Given the description of an element on the screen output the (x, y) to click on. 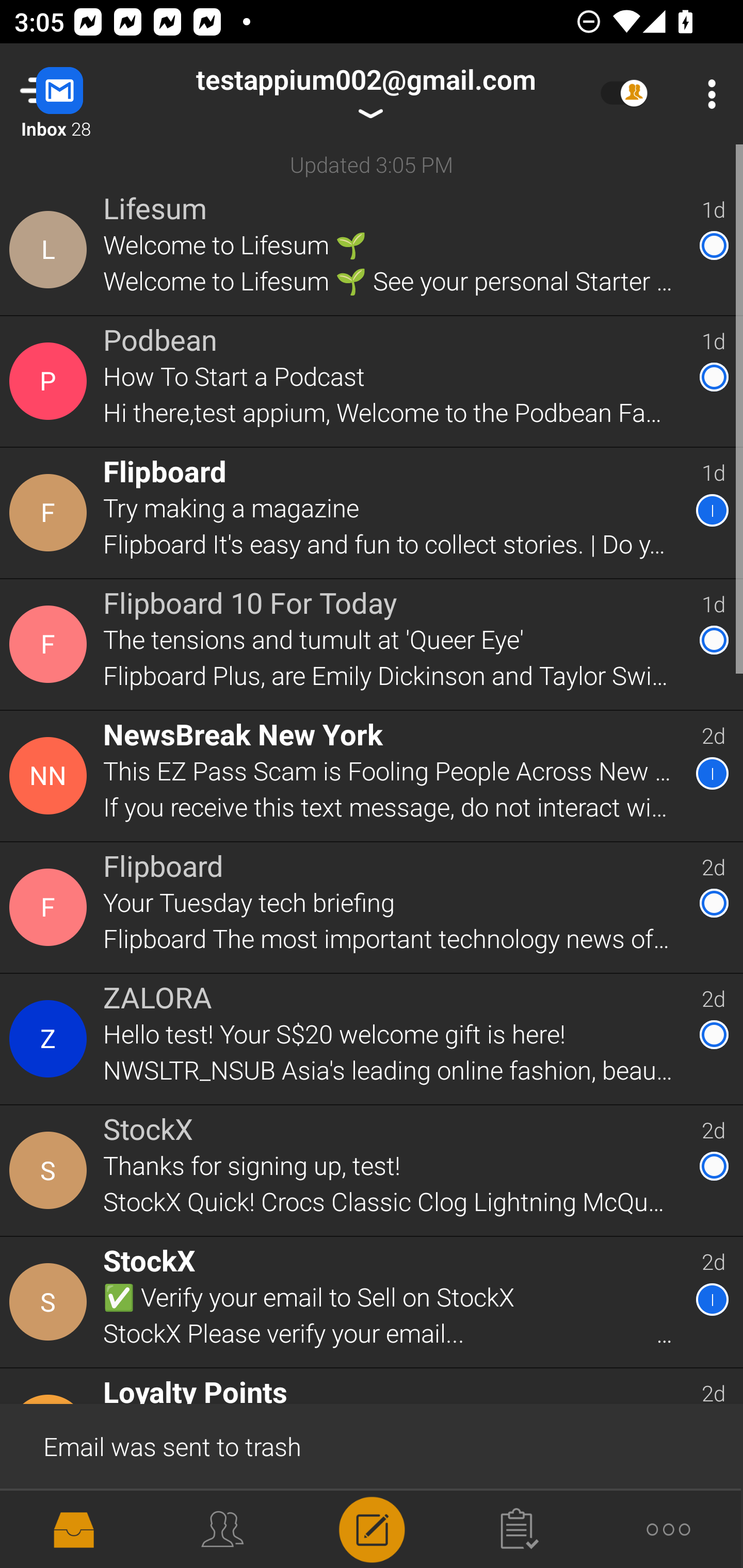
Navigate up (81, 93)
testappium002@gmail.com (365, 93)
More Options (706, 93)
Updated 3:05 PM (371, 164)
Contact Details (50, 250)
Contact Details (50, 381)
Contact Details (50, 513)
Contact Details (50, 644)
Contact Details (50, 776)
Contact Details (50, 907)
Contact Details (50, 1038)
Contact Details (50, 1170)
Contact Details (50, 1302)
Email was sent to trash (371, 1445)
Compose (371, 1528)
